Given the description of an element on the screen output the (x, y) to click on. 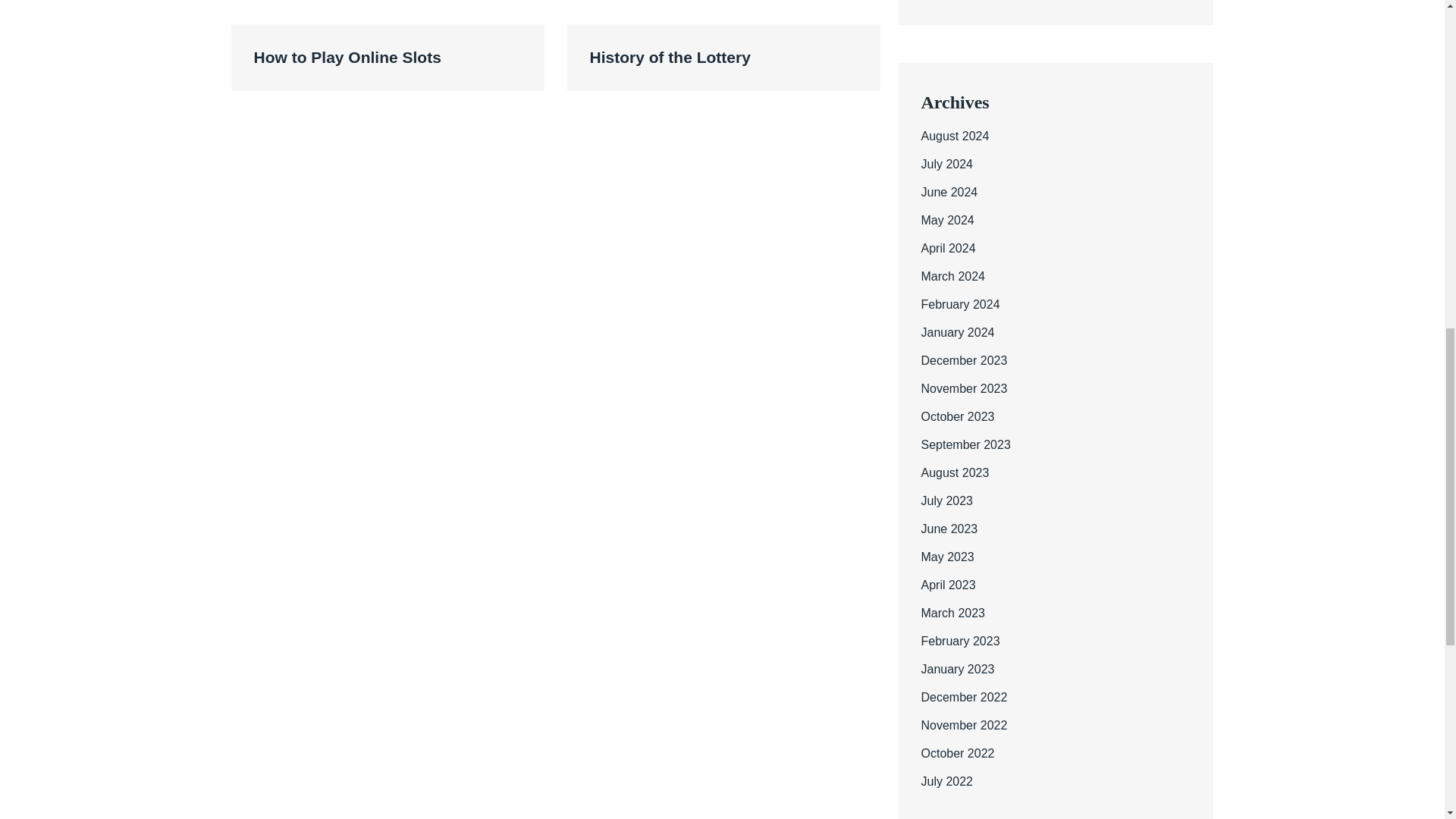
May 2024 (947, 219)
December 2023 (963, 359)
March 2024 (952, 276)
October 2023 (957, 416)
March 2023 (952, 612)
July 2024 (946, 164)
January 2023 (957, 668)
November 2023 (963, 388)
April 2024 (947, 247)
June 2023 (948, 528)
